Given the description of an element on the screen output the (x, y) to click on. 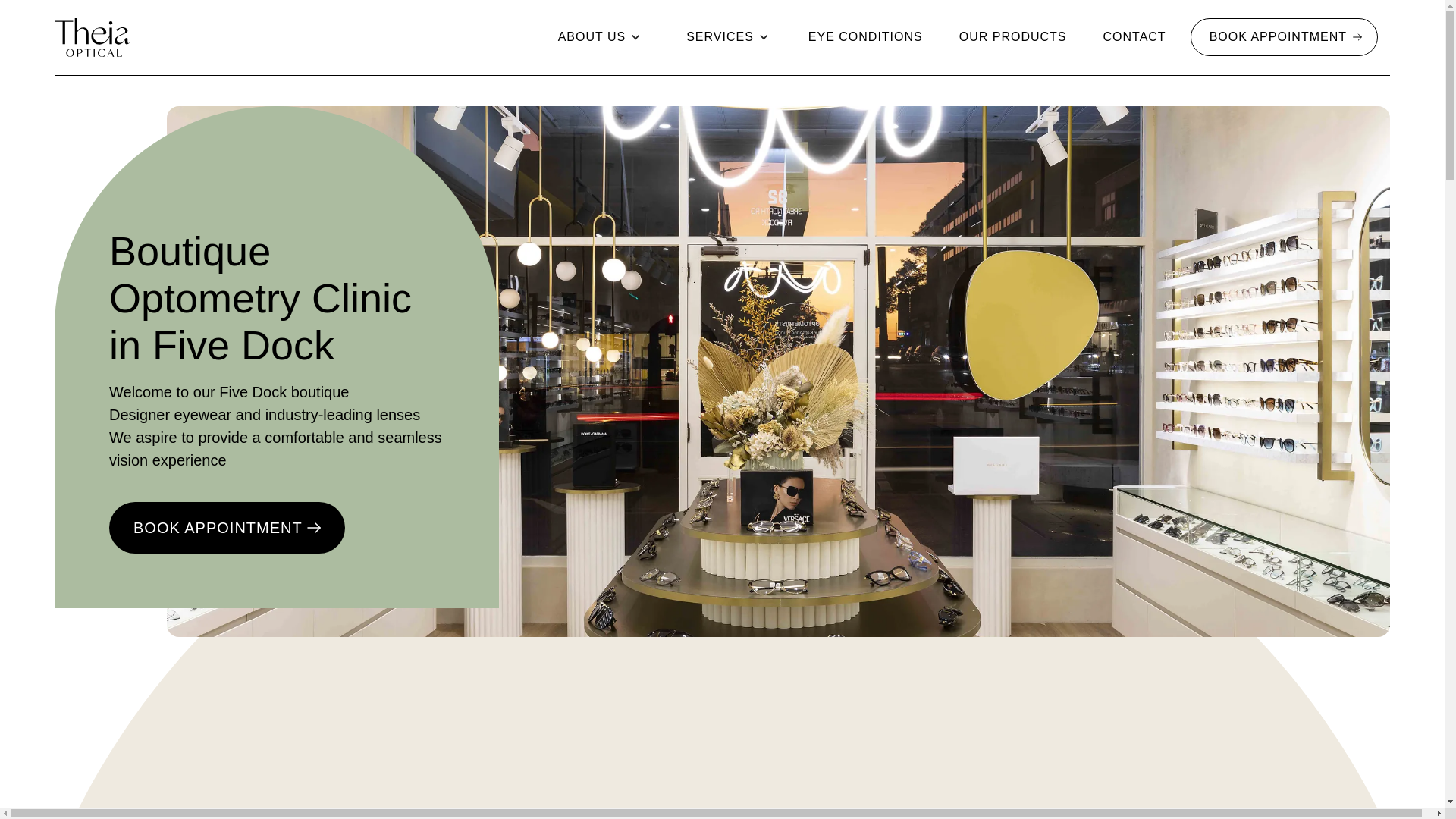
BOOK APPOINTMENT (1284, 37)
CONTACT (1133, 36)
EYE CONDITIONS (865, 36)
OUR PRODUCTS (1012, 36)
BOOK APPOINTMENT (227, 527)
